Given the description of an element on the screen output the (x, y) to click on. 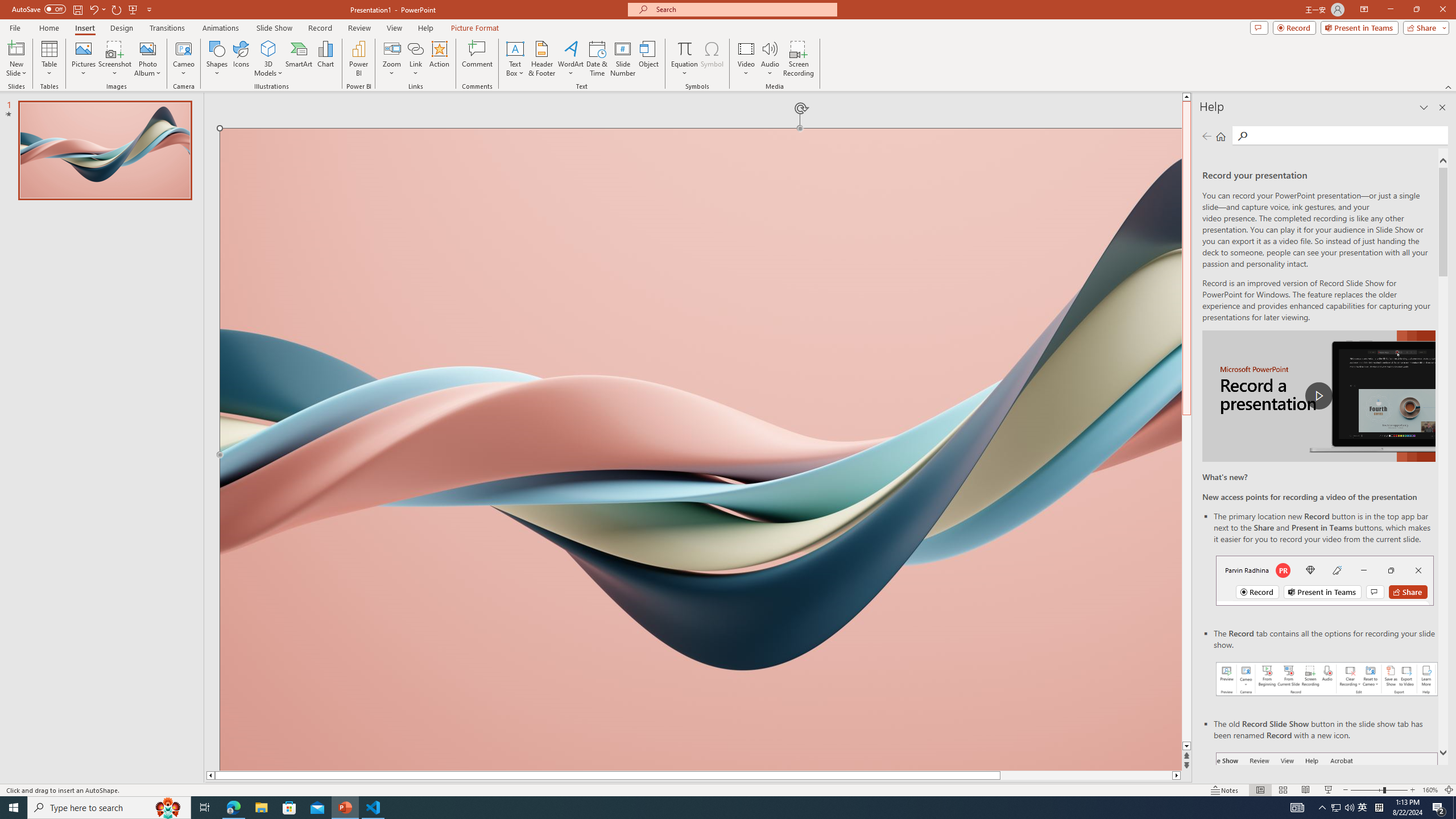
New Photo Album... (147, 48)
WordArt (570, 58)
Icons (240, 58)
Power BI (358, 58)
Equation (683, 48)
